Given the description of an element on the screen output the (x, y) to click on. 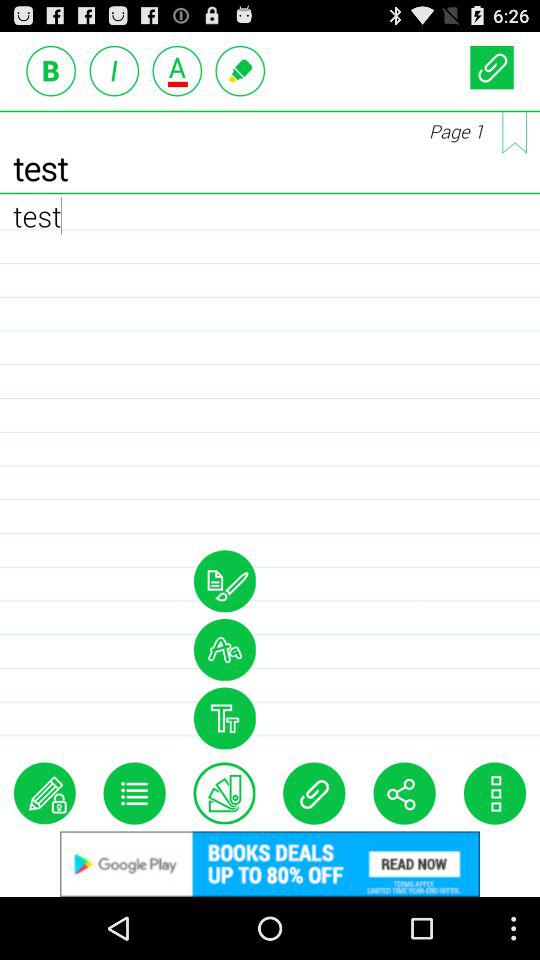
menu options (134, 793)
